Given the description of an element on the screen output the (x, y) to click on. 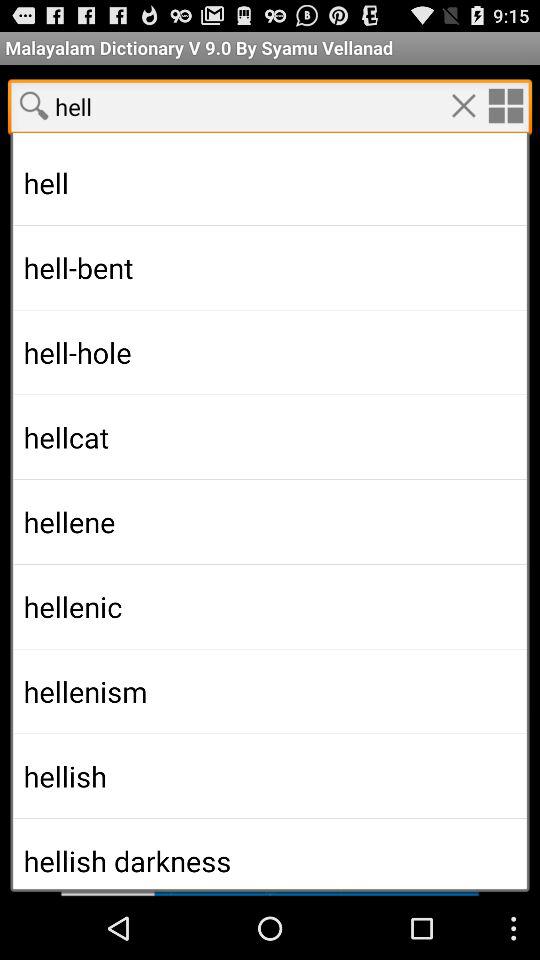
select the predicted text (270, 491)
